Given the description of an element on the screen output the (x, y) to click on. 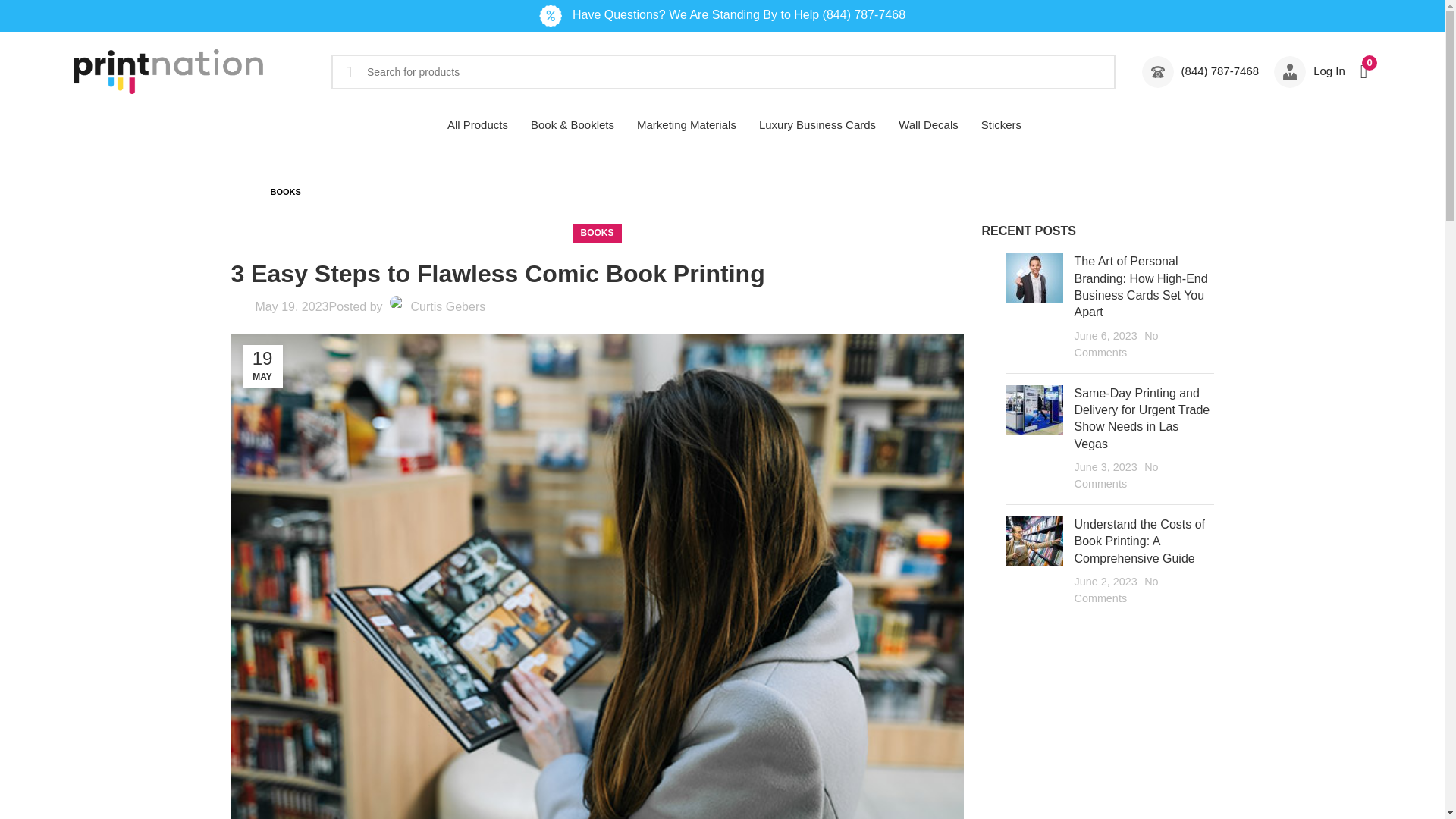
Curtis Gebers (448, 306)
All Products (478, 124)
SEARCH (348, 71)
Stickers (1000, 124)
Search for products (723, 71)
BOOKS (595, 232)
HOME (249, 191)
Shopping cart (1363, 71)
BOOKS (285, 191)
Wall Decals (928, 124)
LiveChat chat widget (1412, 787)
0 (1363, 71)
Marketing Materials (686, 124)
